Given the description of an element on the screen output the (x, y) to click on. 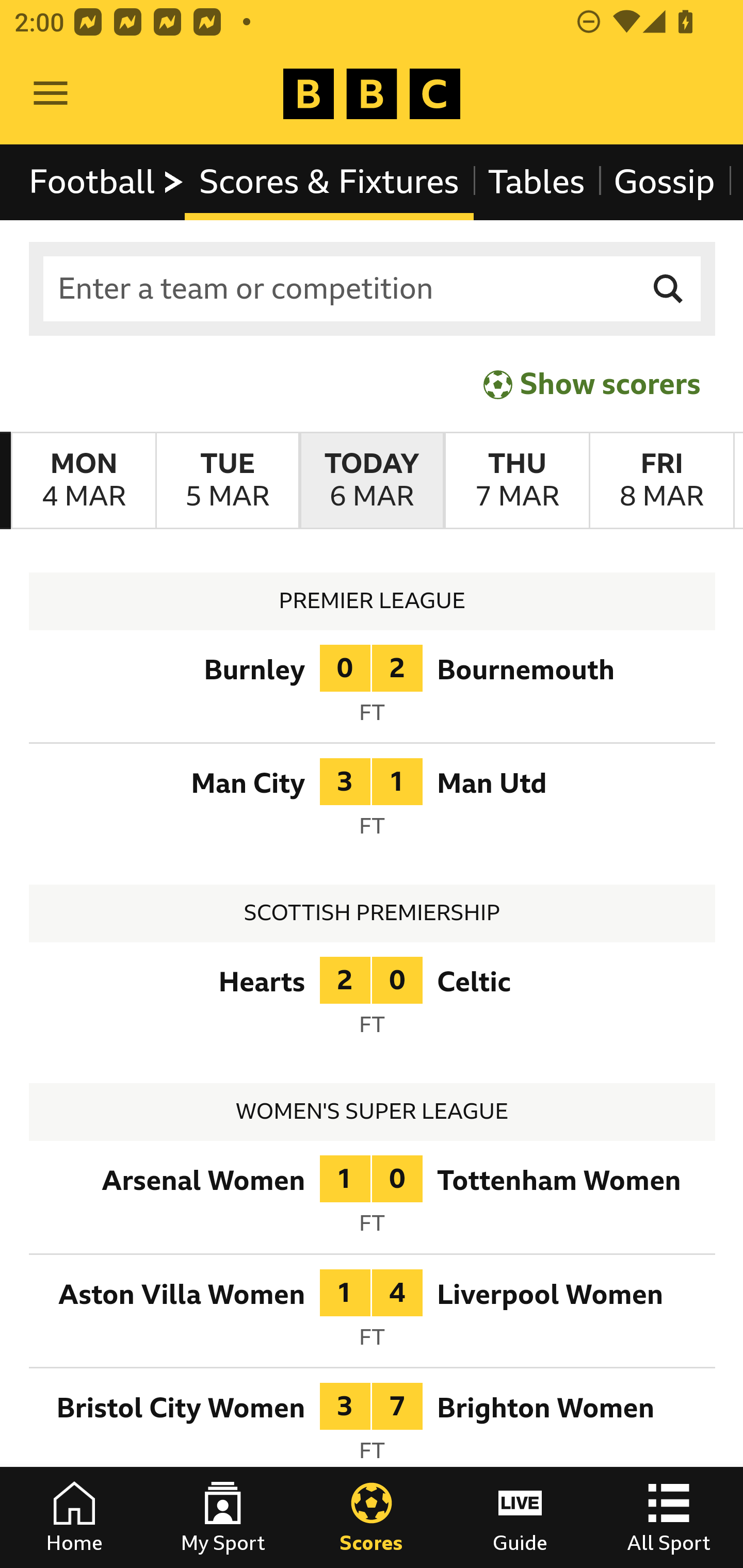
Open Menu (50, 93)
Football  (106, 181)
Scores & Fixtures (329, 181)
Tables (536, 181)
Gossip (664, 181)
Search (669, 289)
Show scorers (591, 383)
MondayMarch 4th Monday March 4th (83, 480)
TuesdayMarch 5th Tuesday March 5th (227, 480)
TodayMarch 6th Today March 6th (371, 480)
ThursdayMarch 7th Thursday March 7th (516, 480)
FridayMarch 8th Friday March 8th (661, 480)
68395538 Burnley 0 AFC Bournemouth 2 Full Time (372, 689)
68395495 Heart of Midlothian 2 Celtic 0 Full Time (372, 1002)
Home (74, 1517)
My Sport (222, 1517)
Guide (519, 1517)
All Sport (668, 1517)
